Given the description of an element on the screen output the (x, y) to click on. 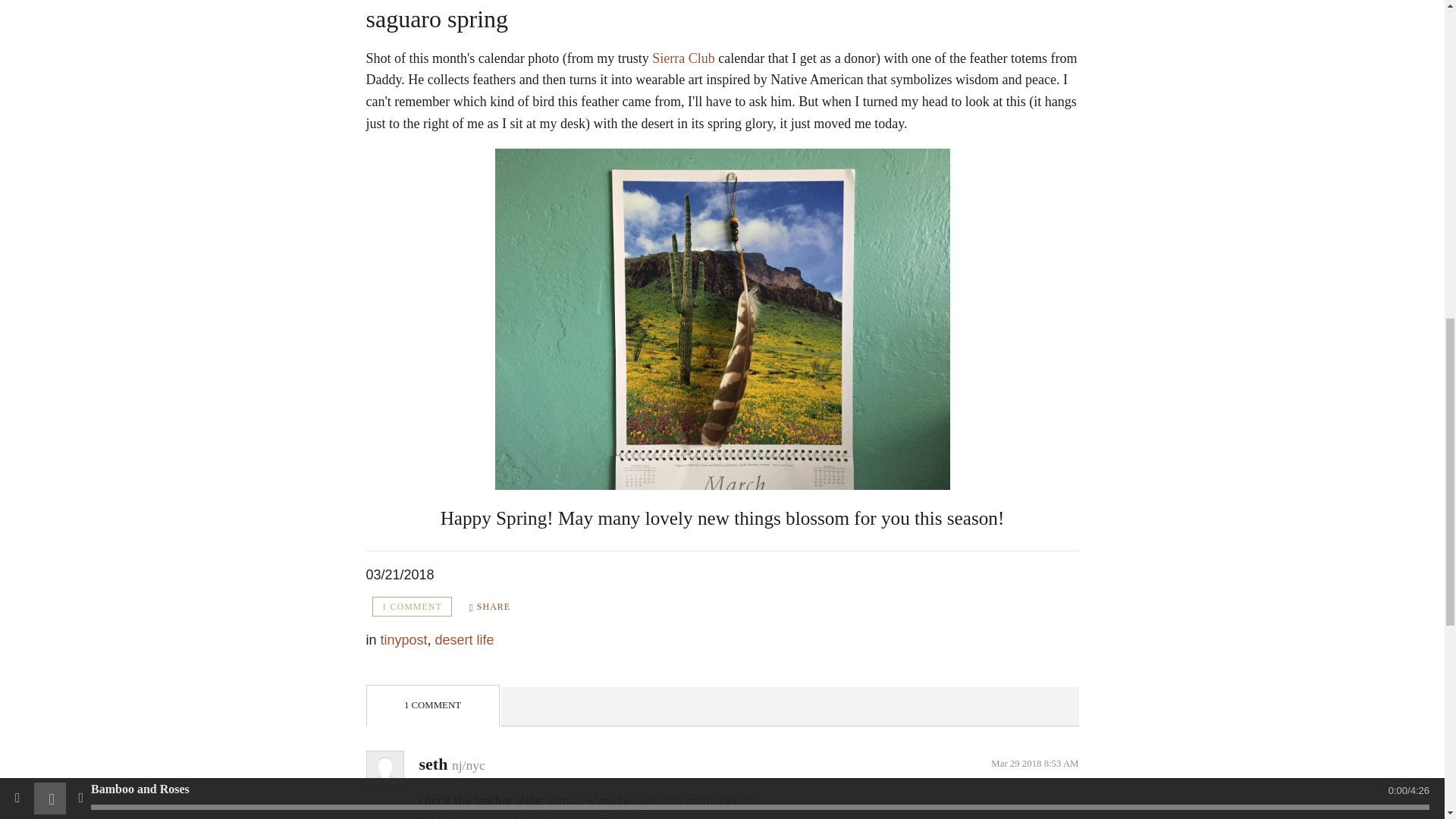
Sierra Club (683, 58)
March 21, 2018 16:11 (399, 574)
desert life (465, 639)
tinypost (404, 639)
1 comment (411, 607)
Share saguaro spring (489, 606)
1 COMMENT (411, 607)
SHARE (489, 606)
